Given the description of an element on the screen output the (x, y) to click on. 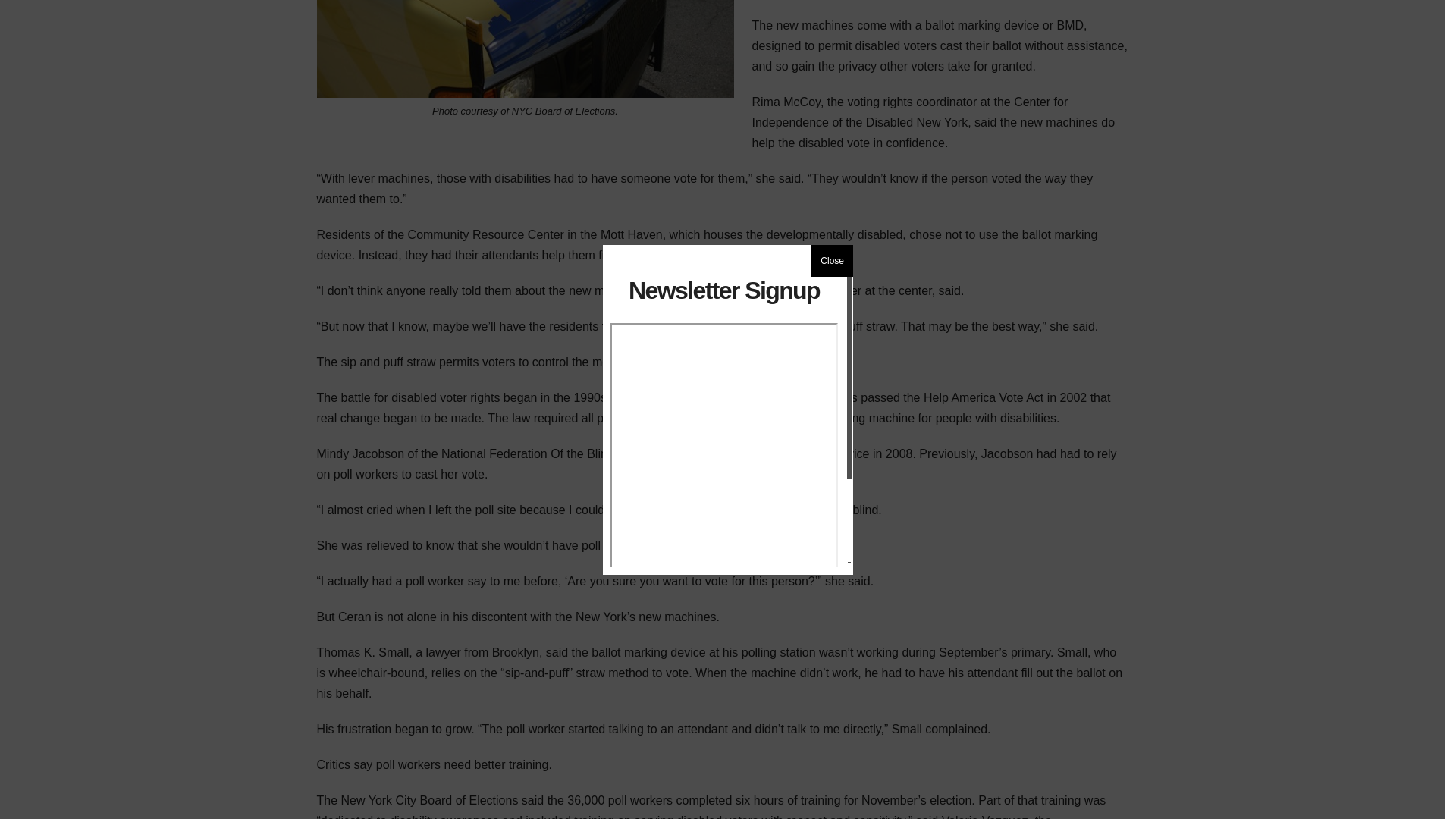
truck4 (525, 48)
